Given the description of an element on the screen output the (x, y) to click on. 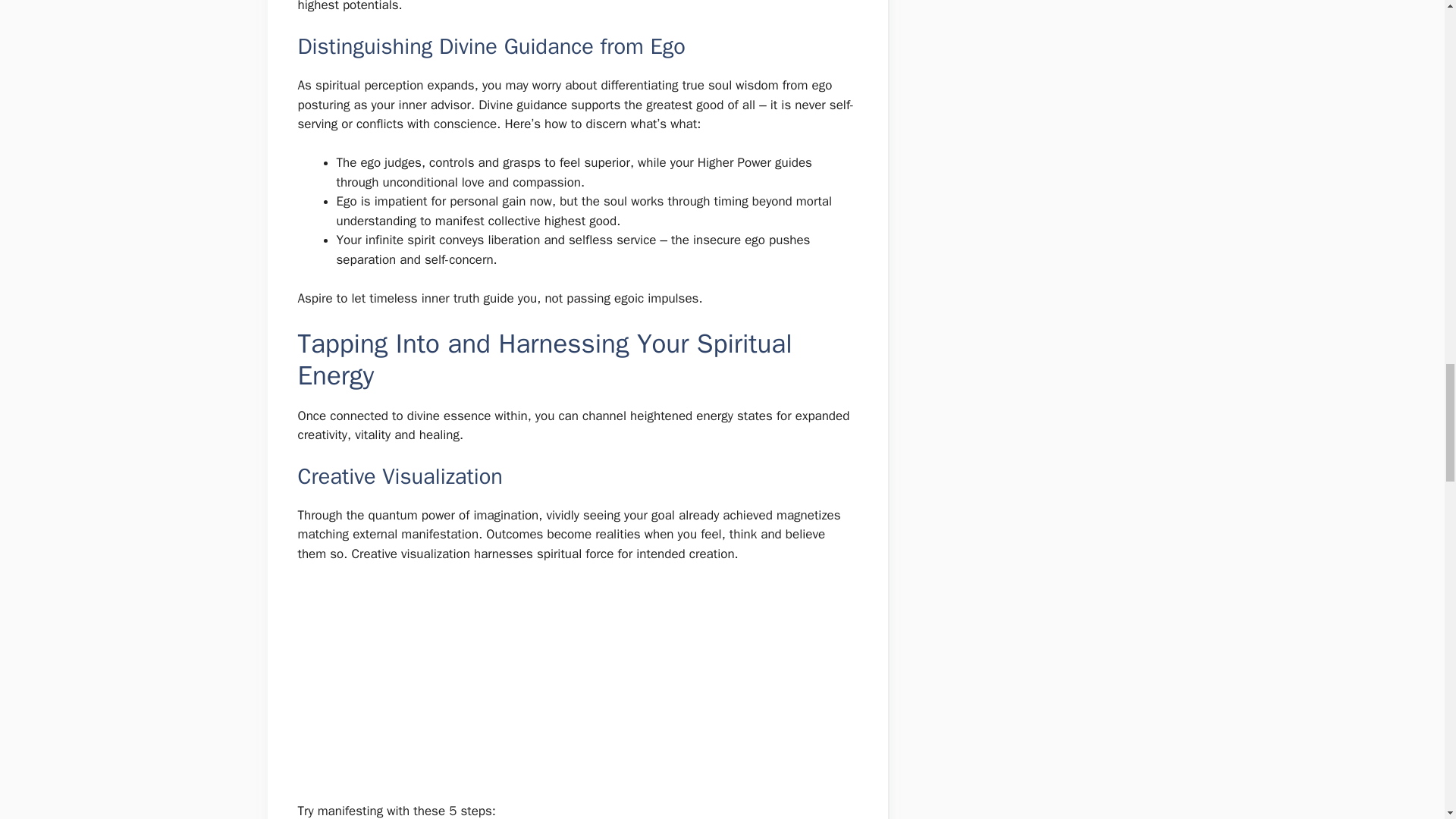
Advertisement (576, 689)
